Given the description of an element on the screen output the (x, y) to click on. 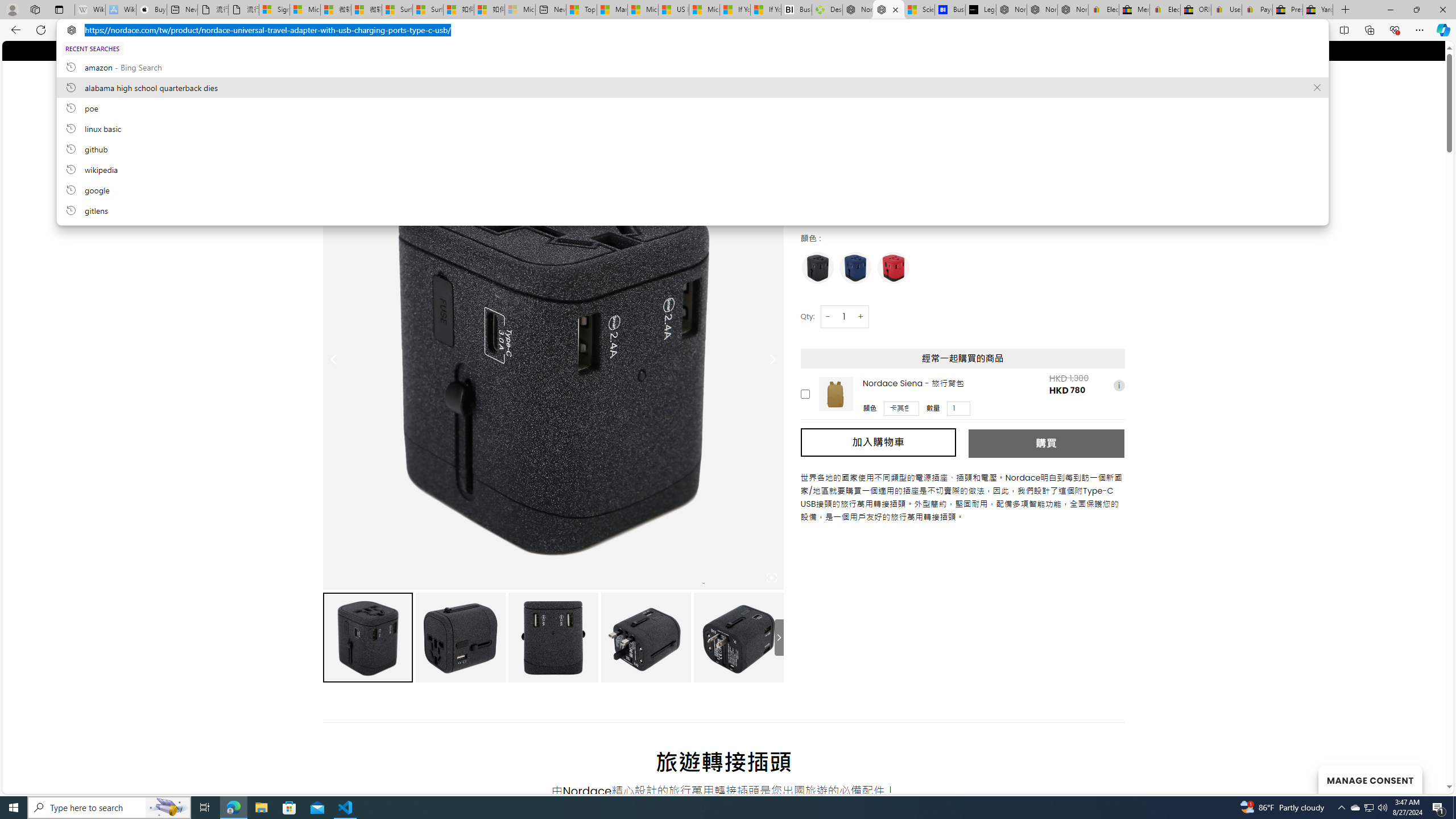
Press Room - eBay Inc. (1287, 9)
+ (861, 316)
amazon, recent searches from history (691, 66)
